Given the description of an element on the screen output the (x, y) to click on. 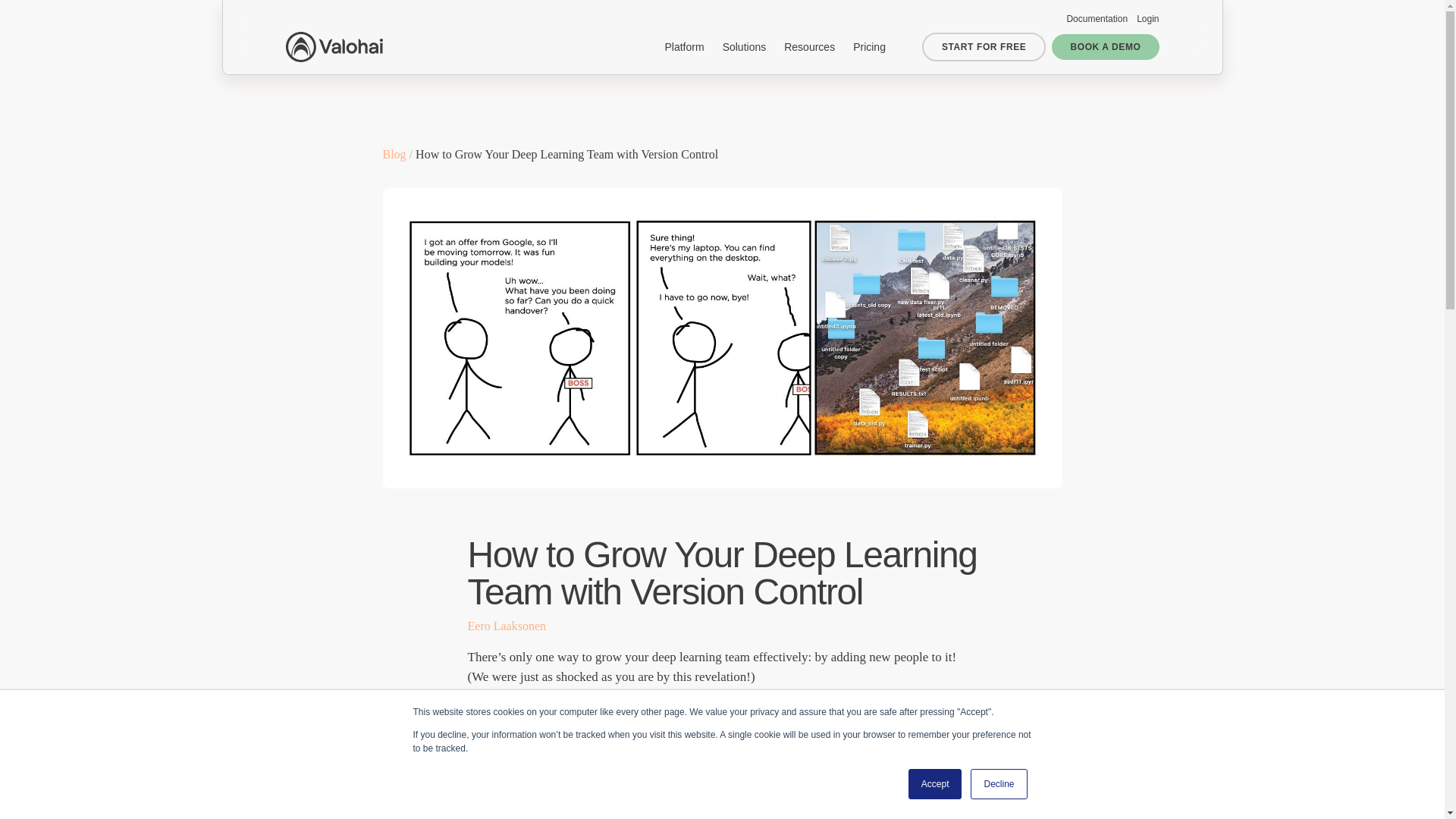
Documentation (1095, 18)
Eero Laaksonen (506, 625)
Blog (393, 154)
Accept (935, 784)
Login (1147, 18)
Pricing (869, 46)
START FOR FREE (983, 46)
Decline (998, 784)
BOOK A DEMO (1104, 46)
